Given the description of an element on the screen output the (x, y) to click on. 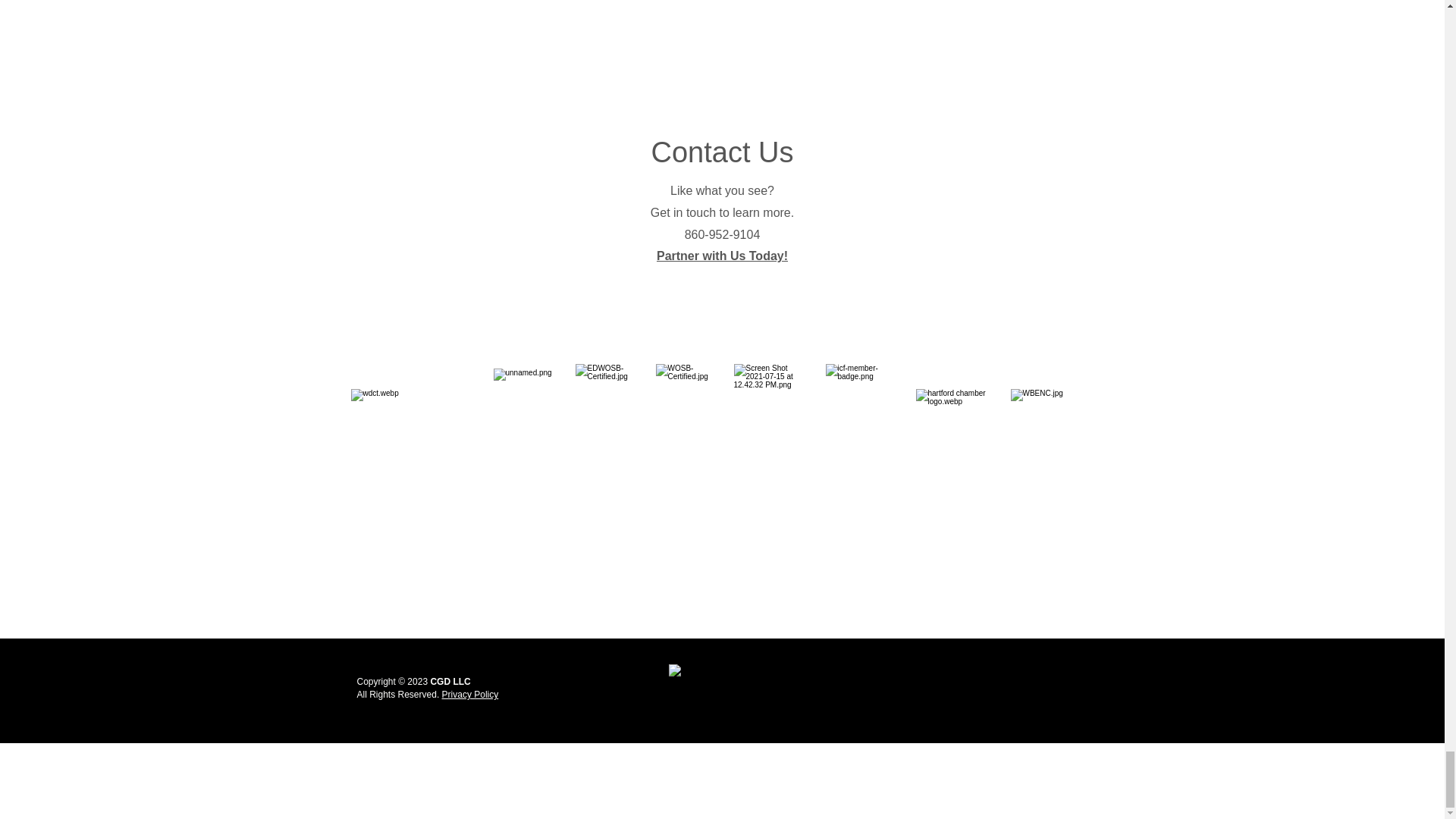
Privacy Policy (470, 694)
Partner with Us Today! (721, 255)
